Given the description of an element on the screen output the (x, y) to click on. 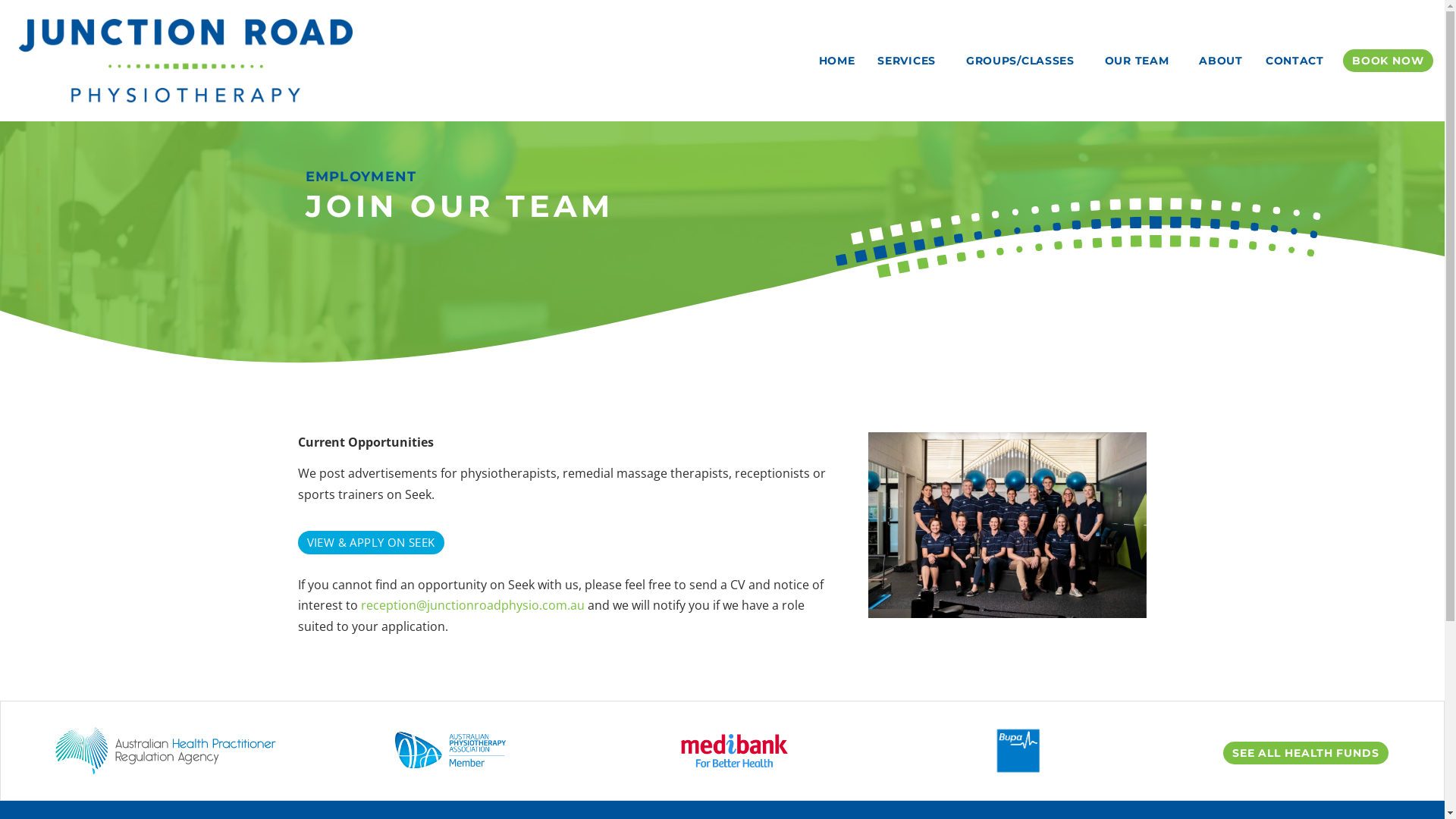
GROUPS/CLASSES Element type: text (1023, 60)
CONTACT Element type: text (1294, 60)
OUR TEAM Element type: text (1140, 60)
BOOK NOW Element type: text (1388, 60)
SEE ALL HEALTH FUNDS Element type: text (1305, 752)
HOME Element type: text (836, 60)
reception@junctionroadphysio.com.au Element type: text (472, 604)
SERVICES Element type: text (910, 60)
ABOUT Element type: text (1220, 60)
VIEW & APPLY ON SEEK Element type: text (370, 542)
